Given the description of an element on the screen output the (x, y) to click on. 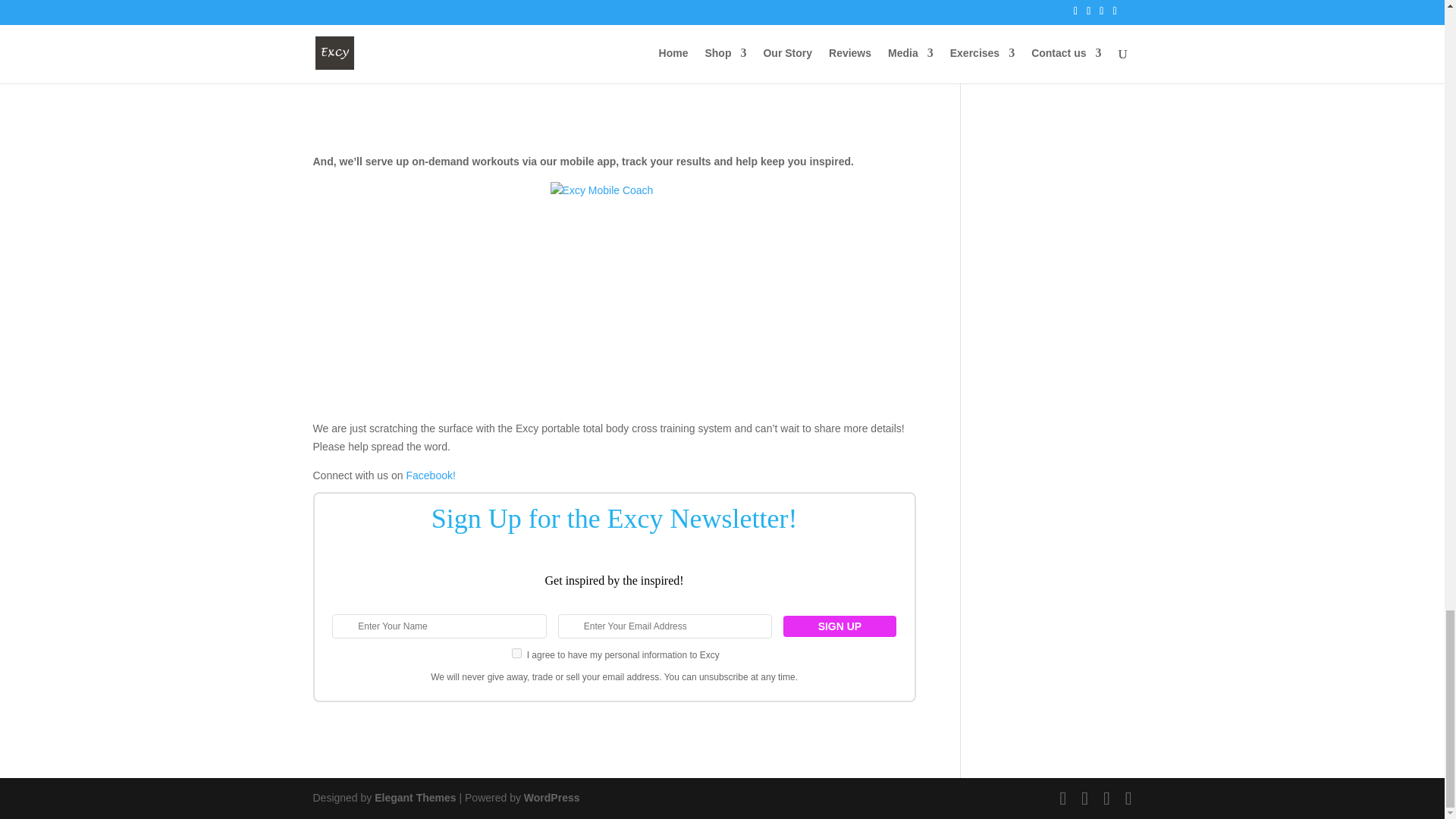
on (516, 653)
Premium WordPress Themes (414, 797)
SIGN UP (839, 626)
